Given the description of an element on the screen output the (x, y) to click on. 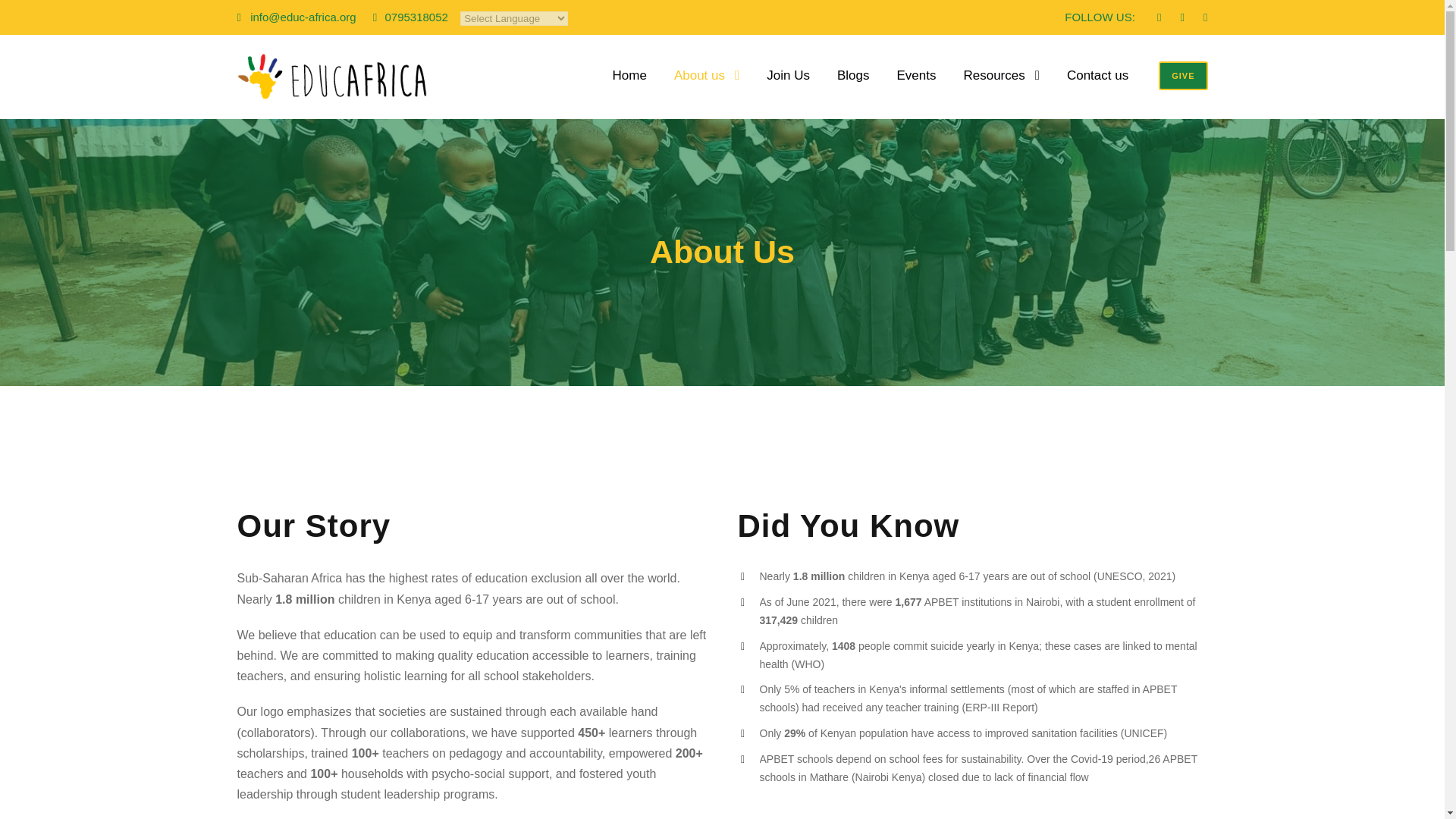
About us (706, 85)
Contact us (1097, 85)
Join Us (788, 85)
GIVE (1182, 75)
Events (916, 85)
Resources (1000, 85)
